Given the description of an element on the screen output the (x, y) to click on. 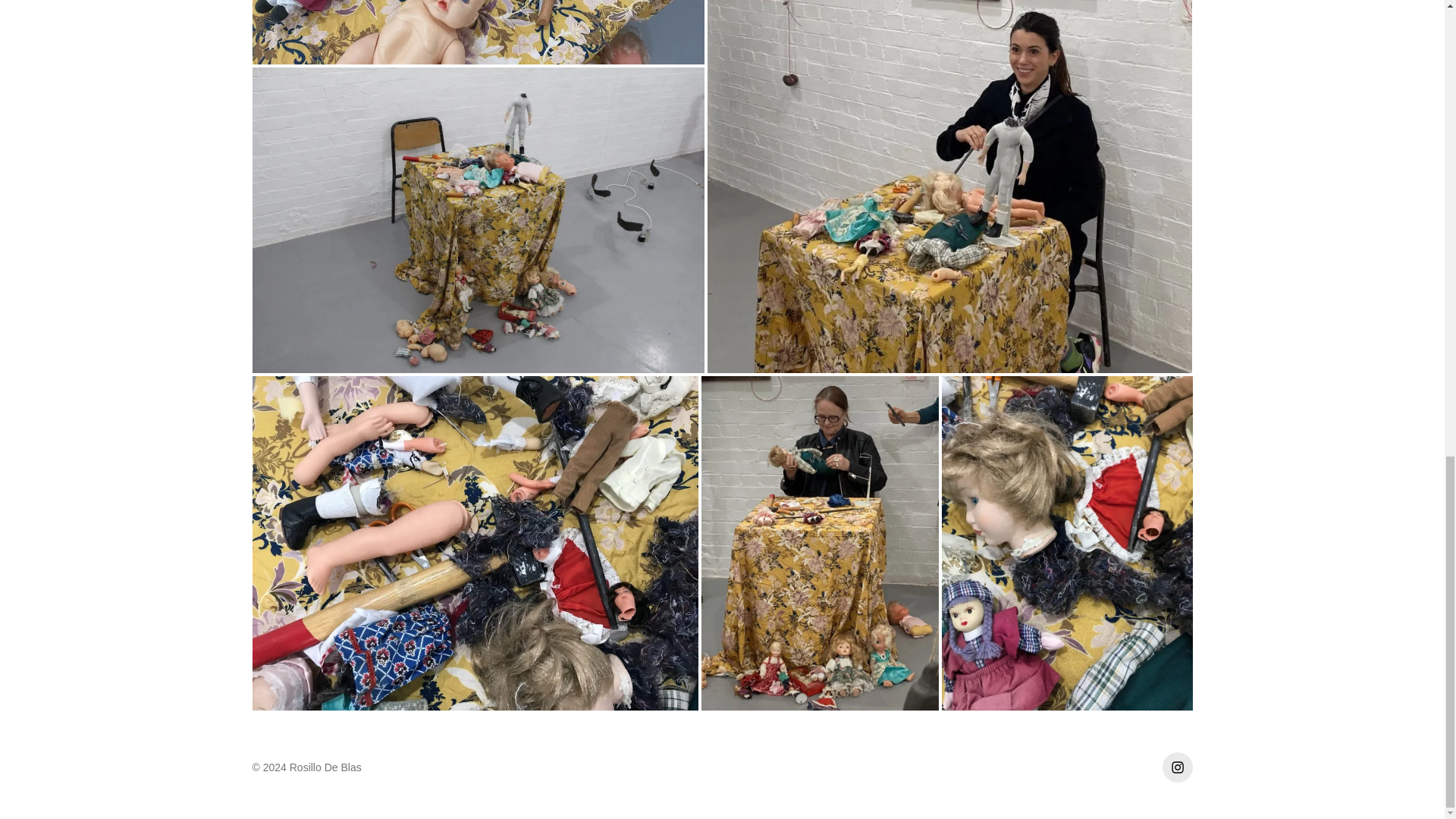
instagram (1176, 767)
